Given the description of an element on the screen output the (x, y) to click on. 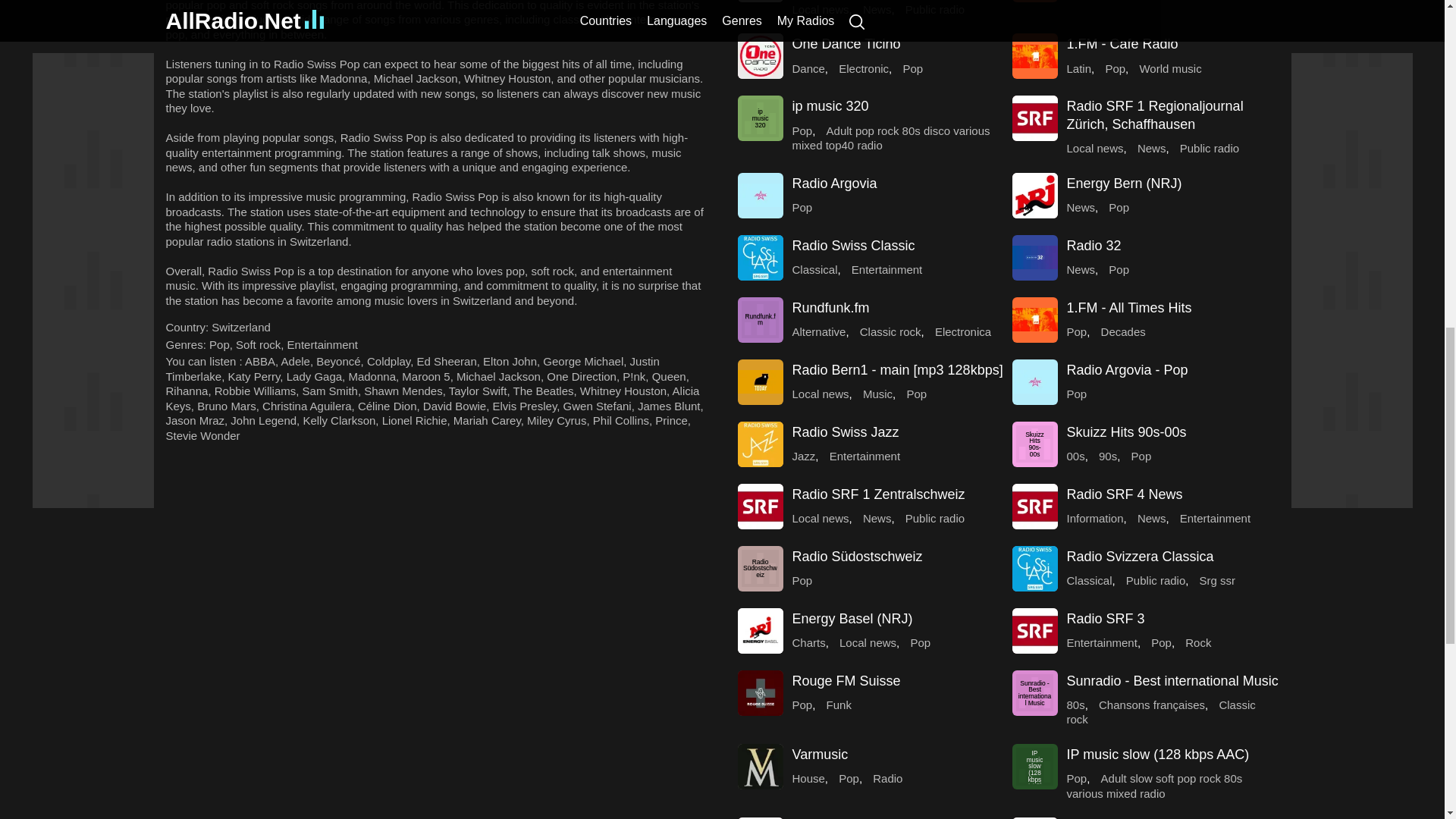
Pop (219, 344)
Pop (219, 344)
Switzerland (240, 327)
Entertainment (322, 344)
Soft rock (258, 344)
Entertainment (322, 344)
Soft rock (258, 344)
